Given the description of an element on the screen output the (x, y) to click on. 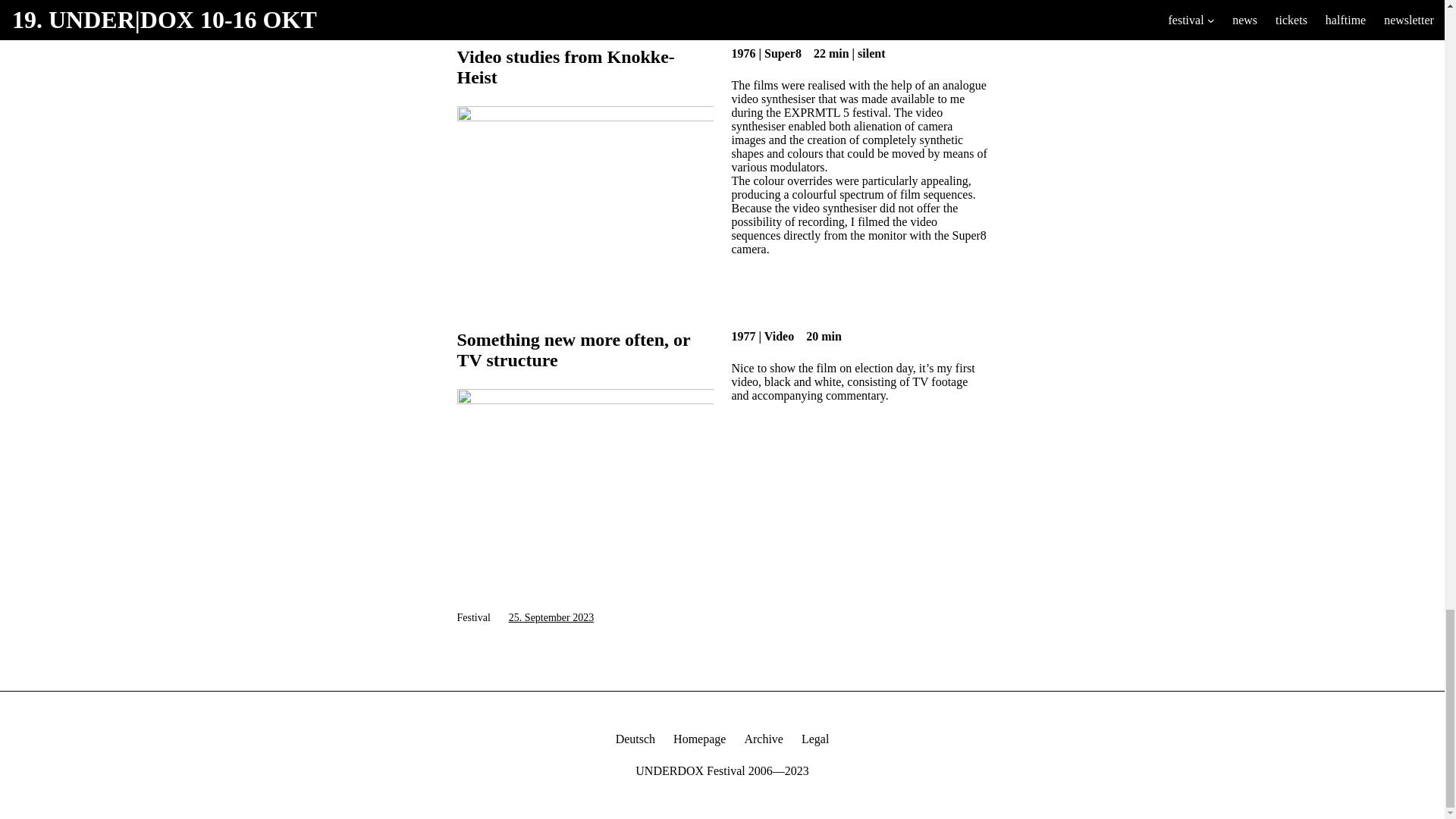
Homepage (698, 739)
25. September 2023 (551, 617)
Archive (763, 739)
Legal (815, 739)
Deutsch (635, 738)
